Given the description of an element on the screen output the (x, y) to click on. 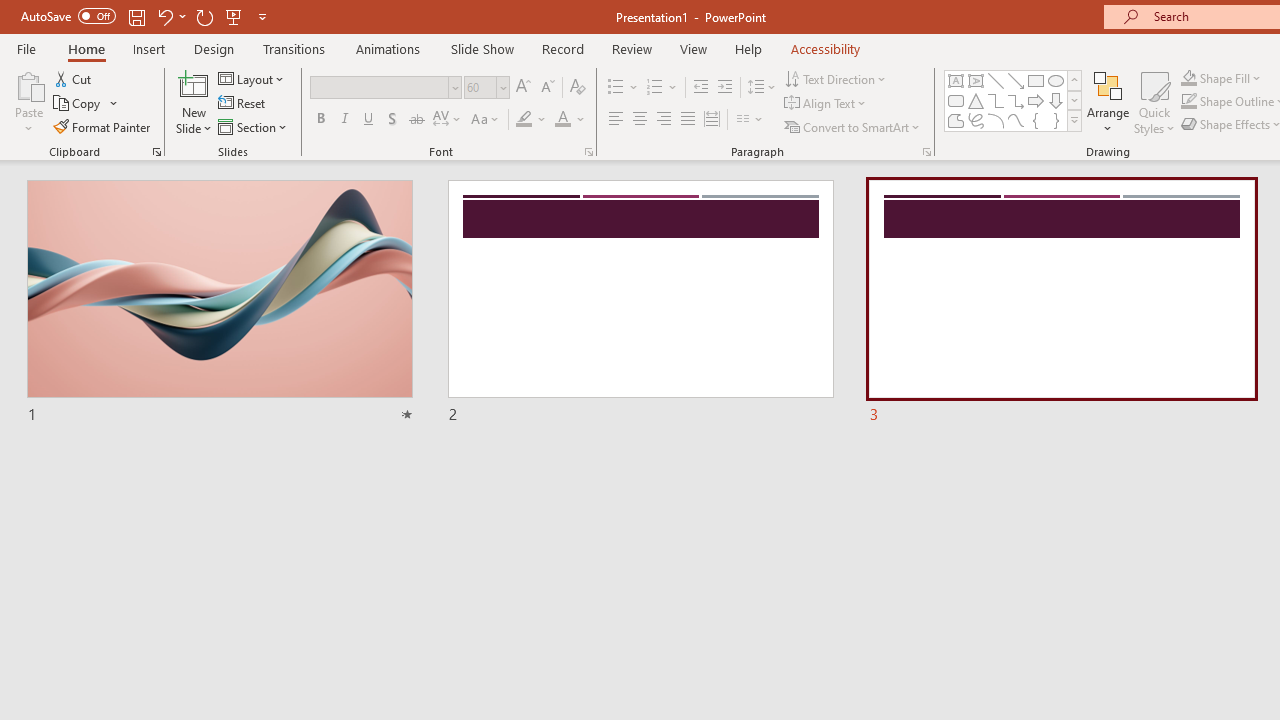
Paragraph... (926, 151)
Text Direction (836, 78)
Reset (243, 103)
Justify (687, 119)
Strikethrough (416, 119)
